Given the description of an element on the screen output the (x, y) to click on. 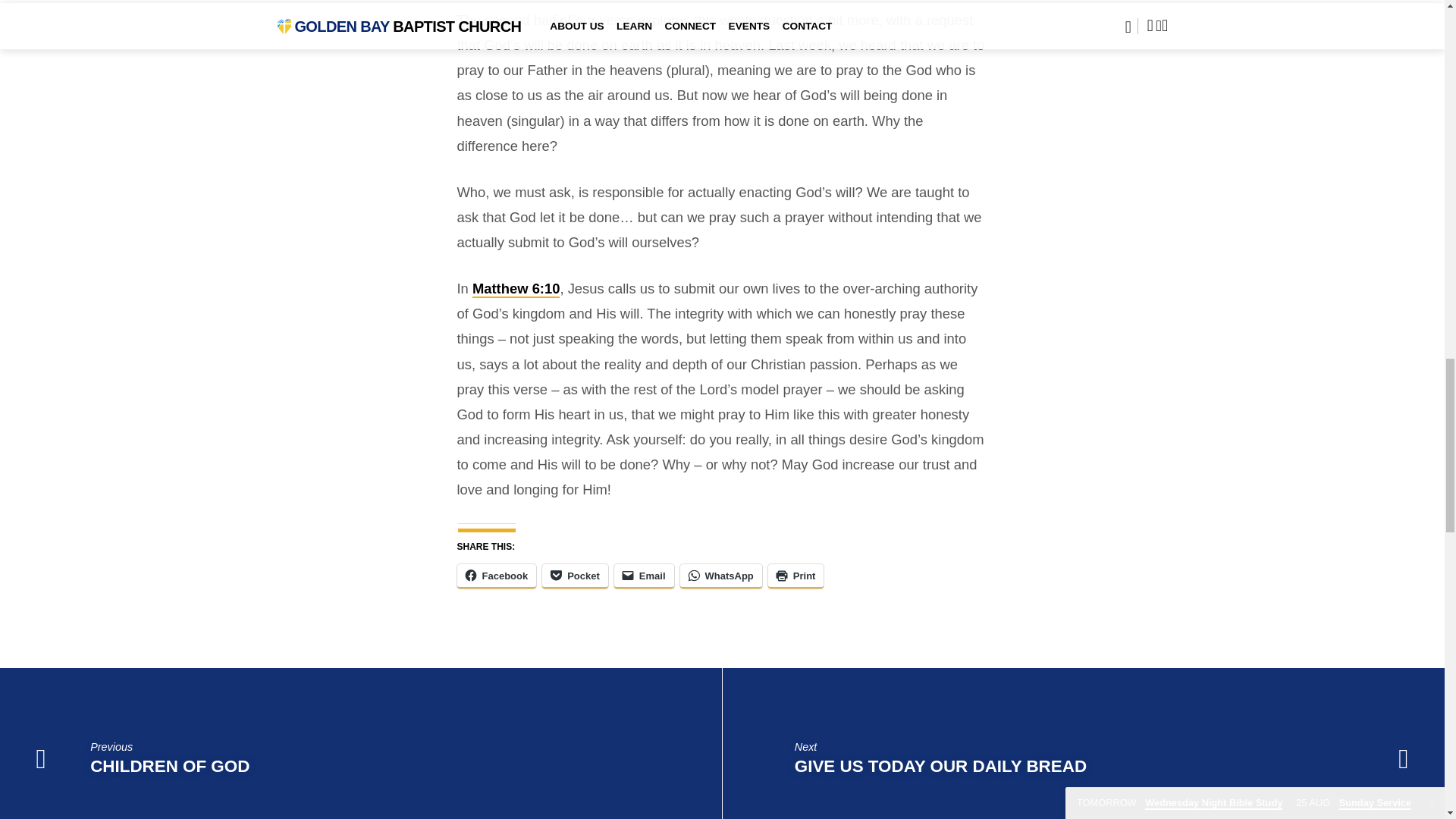
Click to share on Facebook (496, 576)
Click to share on Pocket (574, 576)
Click to share on WhatsApp (720, 576)
Click to email a link to a friend (644, 576)
Click to print (796, 576)
